Given the description of an element on the screen output the (x, y) to click on. 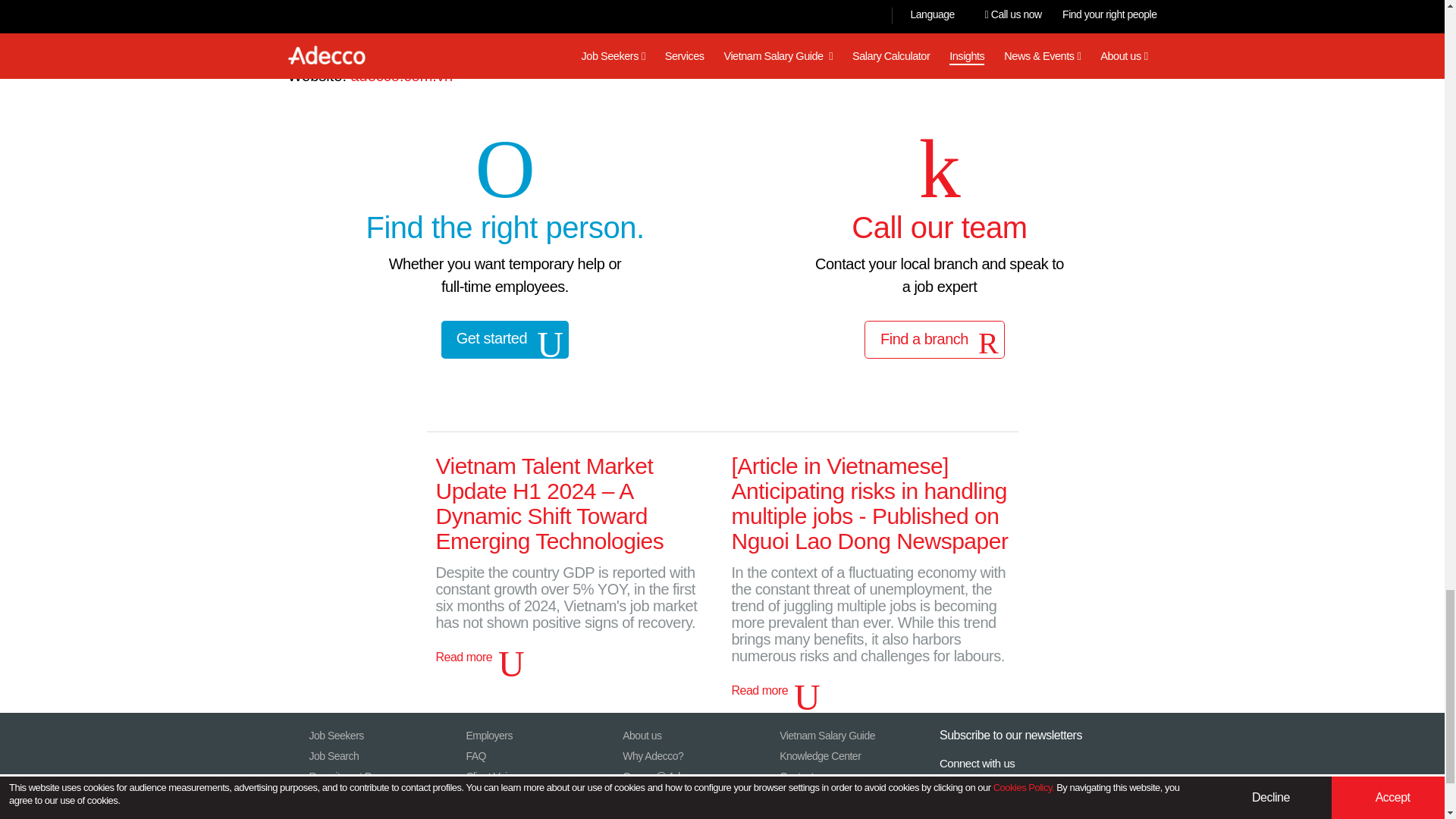
Adecco Vietnam (401, 75)
Facebook (998, 798)
Instagram (962, 798)
Youtube (1033, 798)
linkedin (1070, 798)
